Given the description of an element on the screen output the (x, y) to click on. 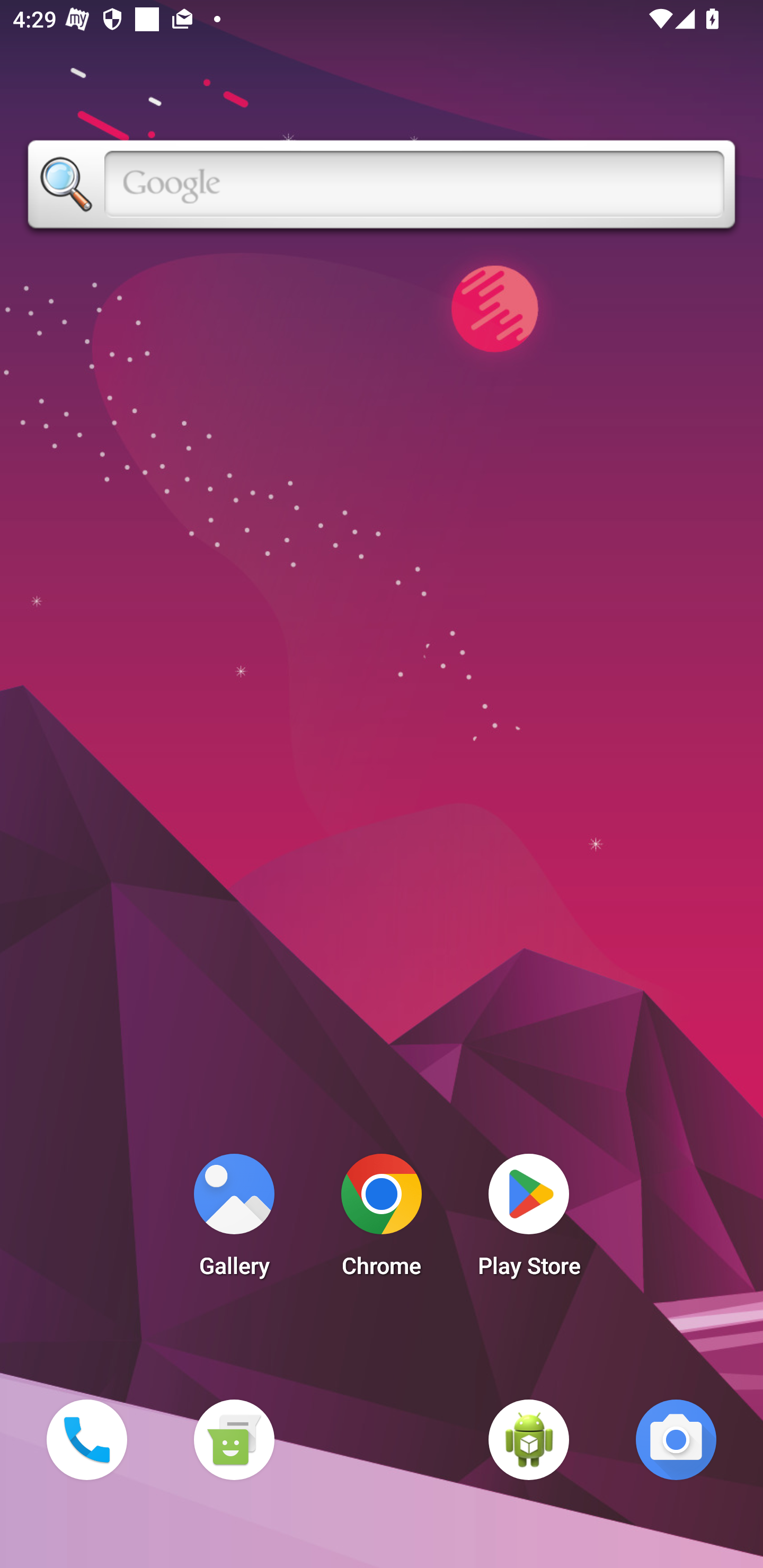
Gallery (233, 1220)
Chrome (381, 1220)
Play Store (528, 1220)
Phone (86, 1439)
Messaging (233, 1439)
WebView Browser Tester (528, 1439)
Camera (676, 1439)
